Given the description of an element on the screen output the (x, y) to click on. 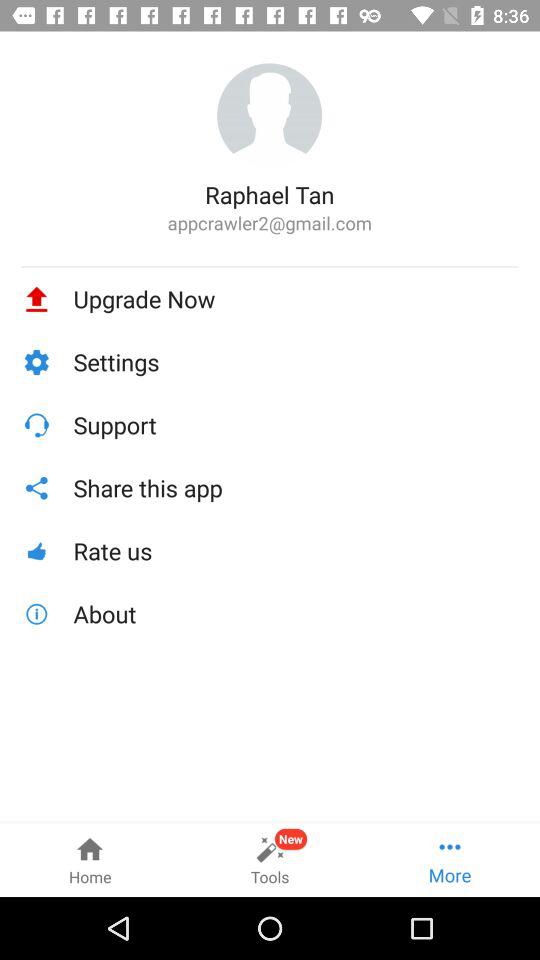
launch item above share this app (296, 424)
